Given the description of an element on the screen output the (x, y) to click on. 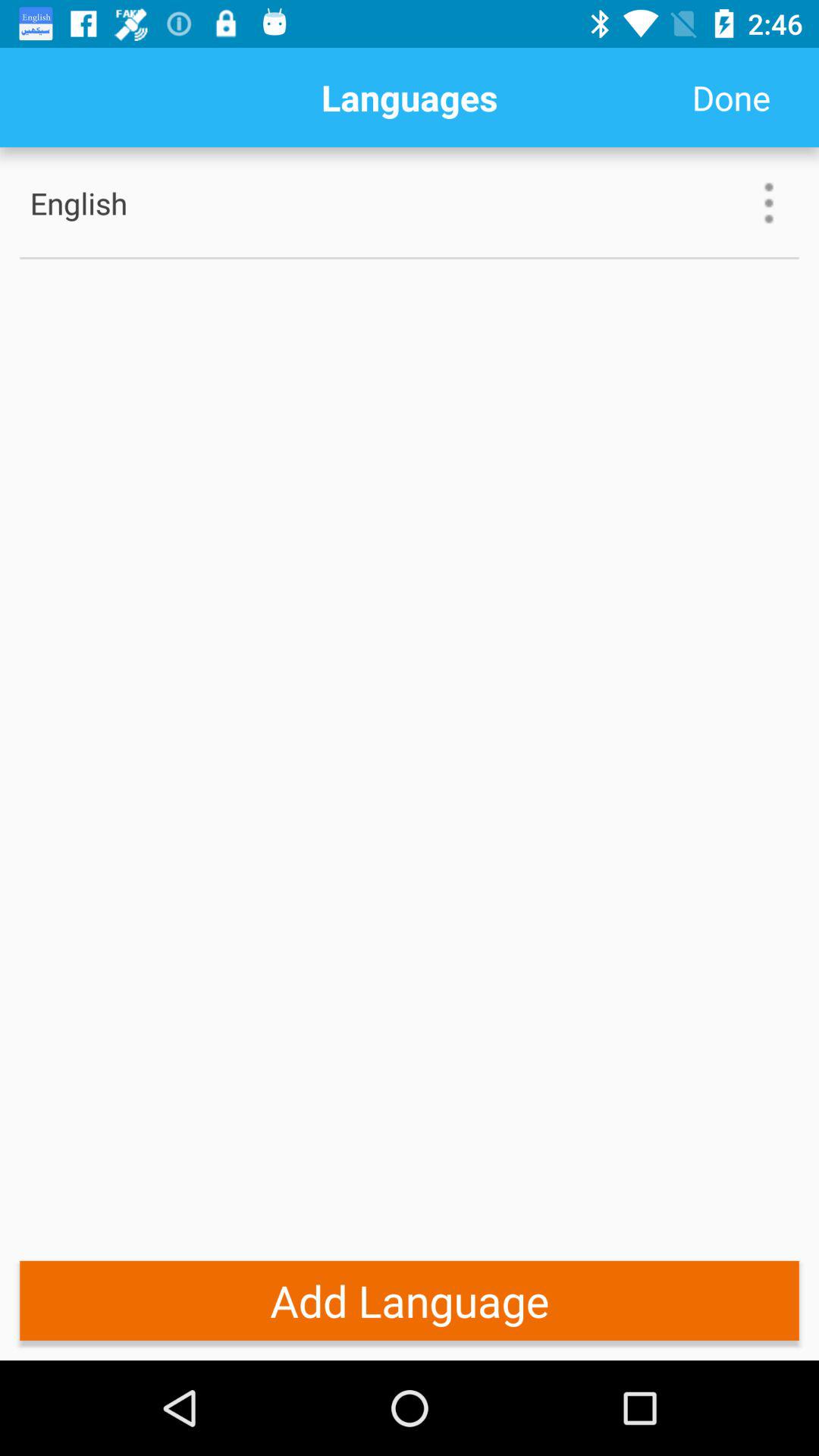
swipe until the add language (409, 1300)
